Given the description of an element on the screen output the (x, y) to click on. 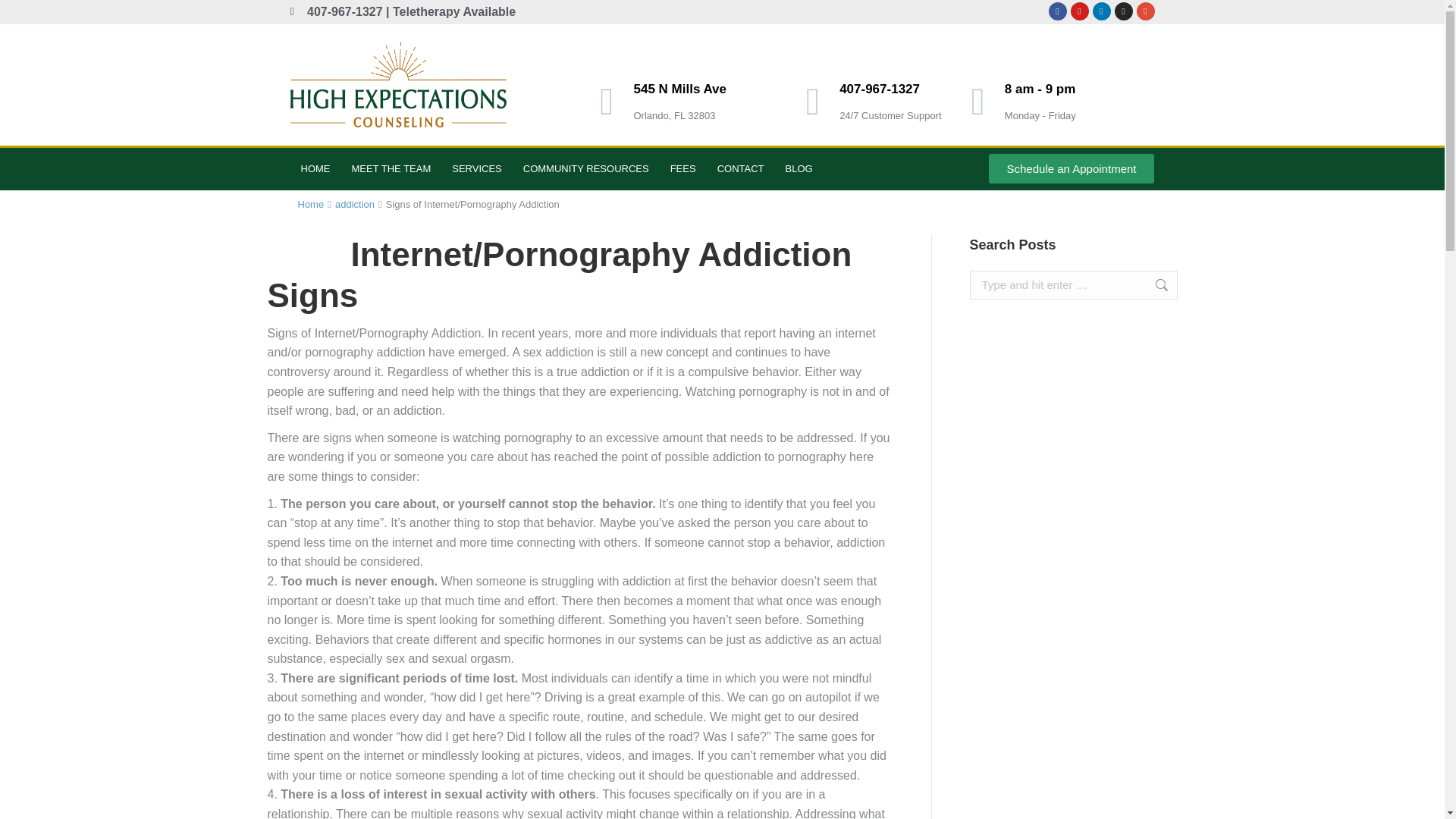
HOME (314, 169)
407-967-1327 (880, 88)
Counseling Services (476, 169)
Go! (1153, 285)
Go! (1153, 285)
SERVICES (476, 169)
545 N Mills Ave (679, 88)
MEET THE TEAM (391, 169)
